Given the description of an element on the screen output the (x, y) to click on. 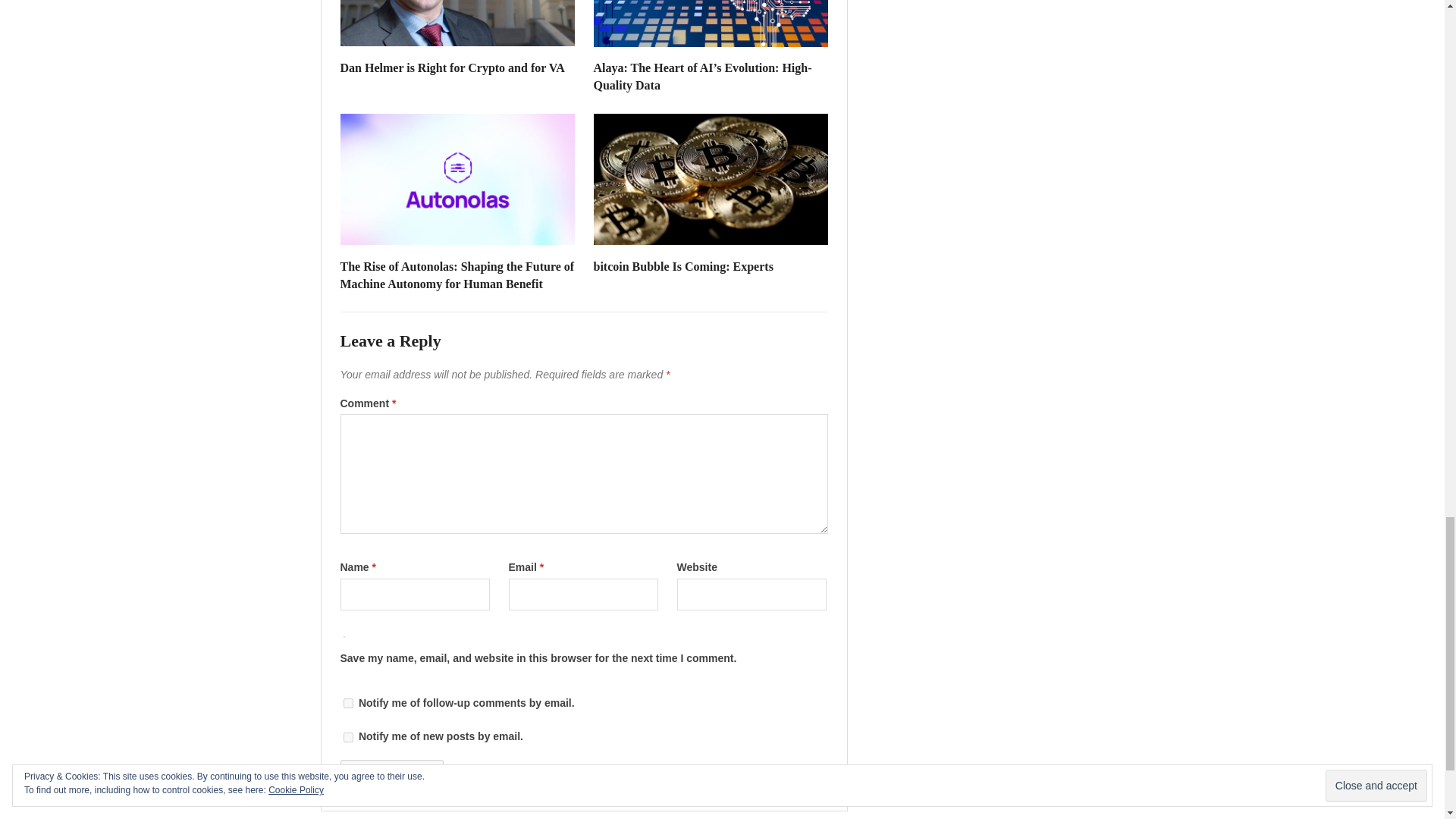
subscribe (347, 737)
subscribe (347, 703)
Post Comment (391, 775)
Dan Helmer is Right for Crypto and for VA (451, 67)
